Given the description of an element on the screen output the (x, y) to click on. 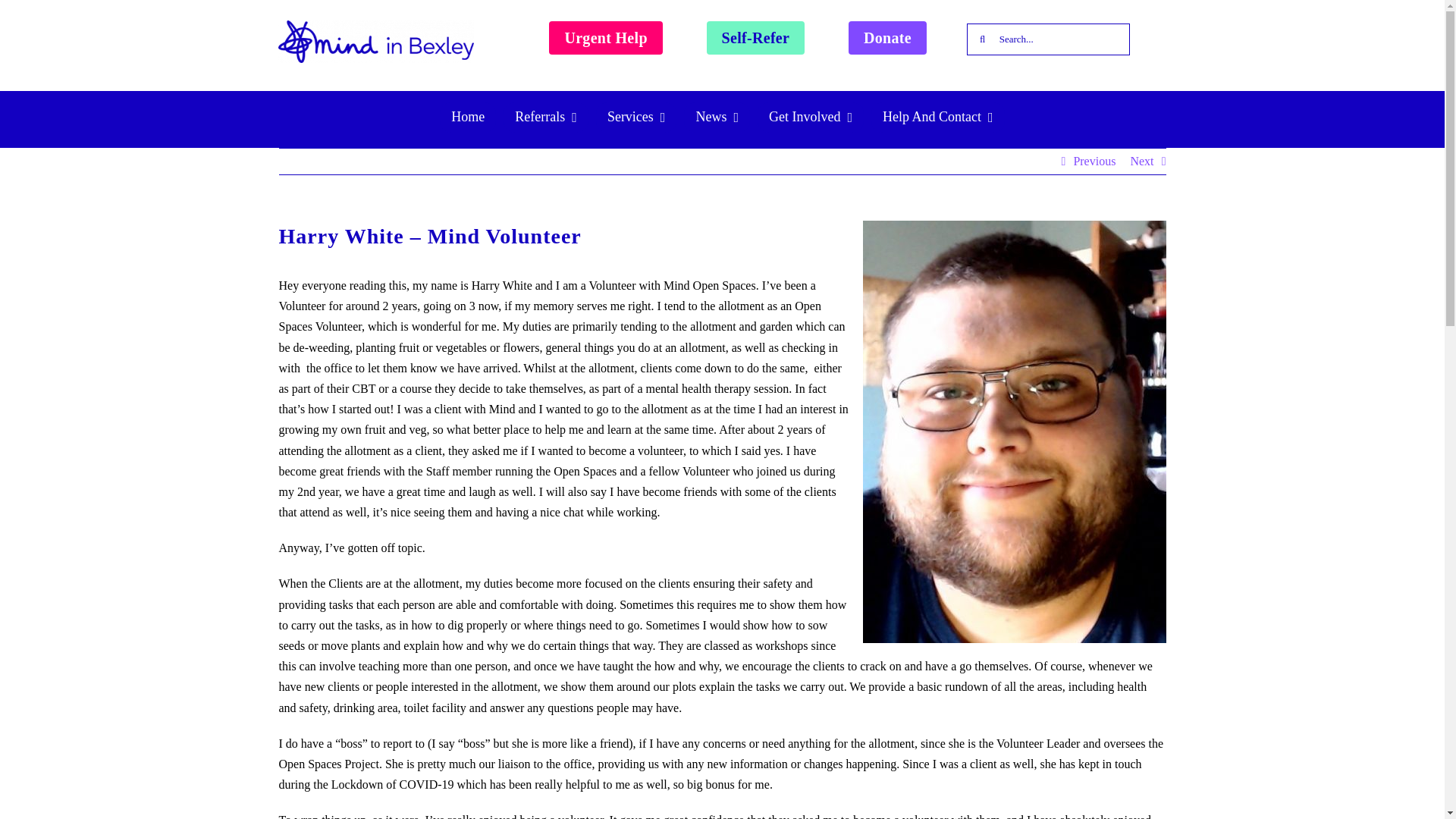
Services (636, 117)
Donate (887, 37)
Home (467, 117)
Self-Refer (755, 37)
Urgent Help (605, 37)
Referrals (545, 117)
